Given the description of an element on the screen output the (x, y) to click on. 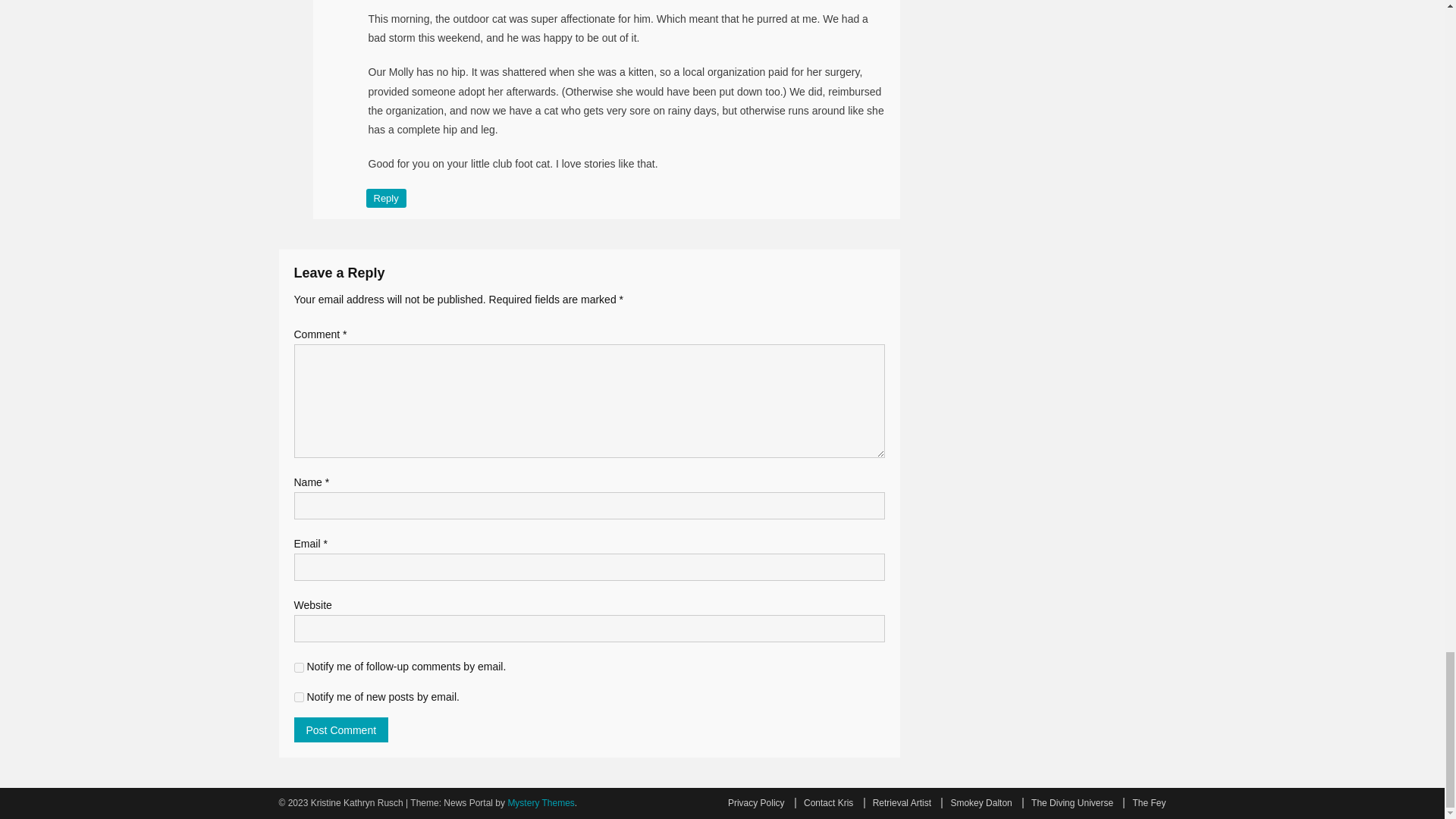
subscribe (299, 667)
Post Comment (341, 729)
subscribe (299, 696)
